Given the description of an element on the screen output the (x, y) to click on. 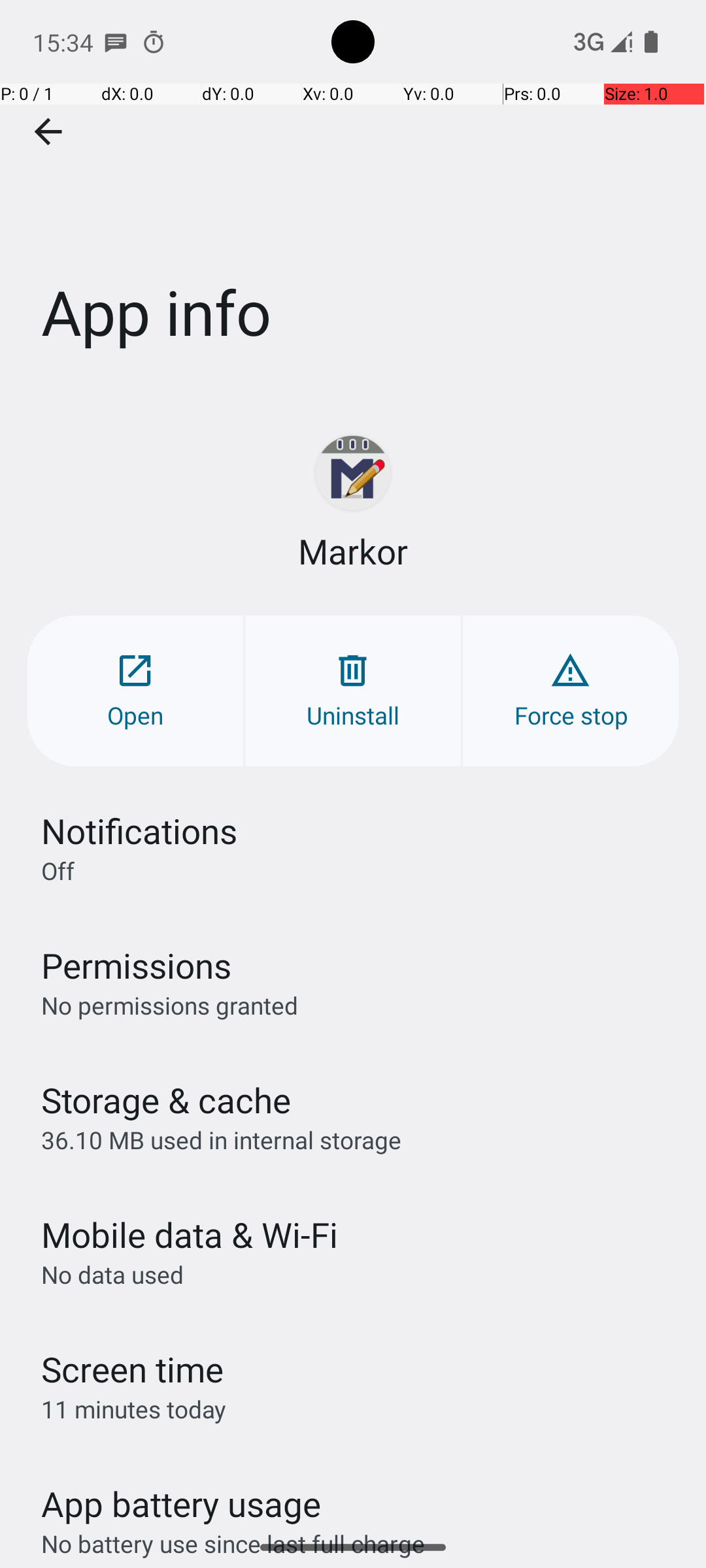
No permissions granted Element type: android.widget.TextView (169, 1004)
36.10 MB used in internal storage Element type: android.widget.TextView (221, 1139)
11 minutes today Element type: android.widget.TextView (133, 1408)
